Given the description of an element on the screen output the (x, y) to click on. 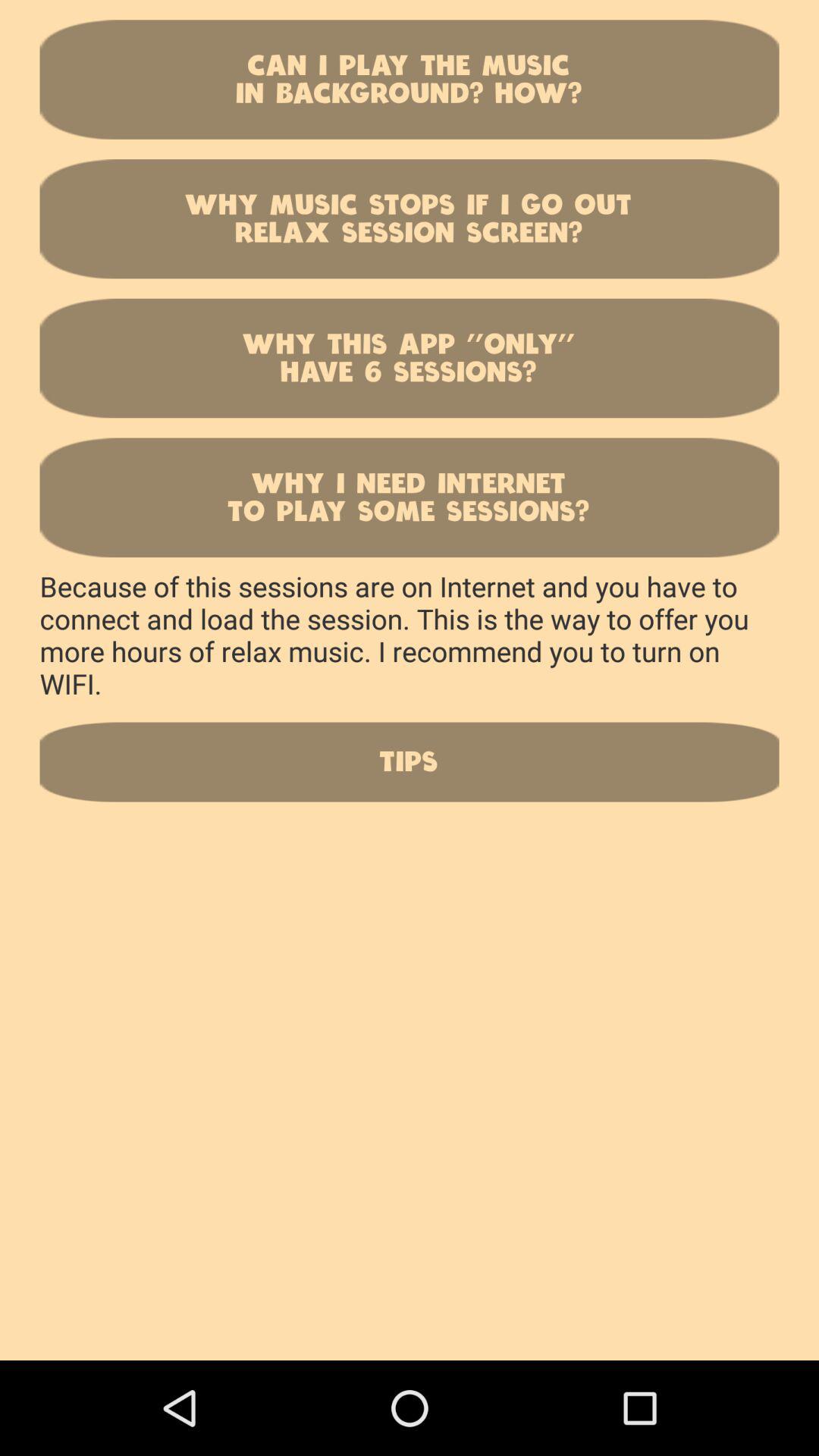
scroll until why this app icon (409, 358)
